Given the description of an element on the screen output the (x, y) to click on. 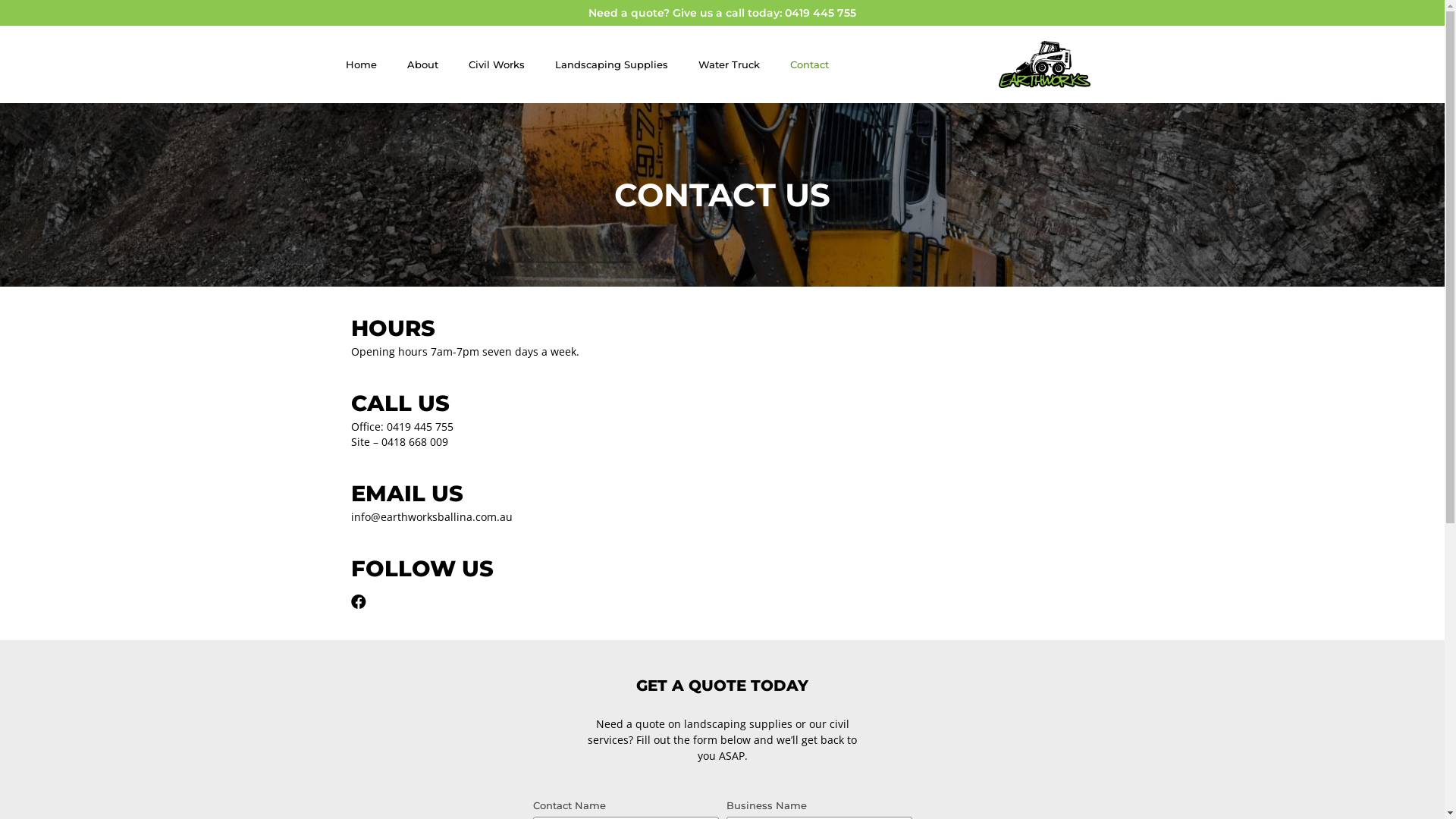
Civil Works Element type: text (496, 64)
Water Truck Element type: text (728, 64)
Home Element type: text (361, 64)
About Element type: text (421, 64)
Landscaping Supplies Element type: text (611, 64)
Contact Element type: text (809, 64)
227 South Beach Road, Ballina, NSW 2478 Element type: hover (911, 462)
